Given the description of an element on the screen output the (x, y) to click on. 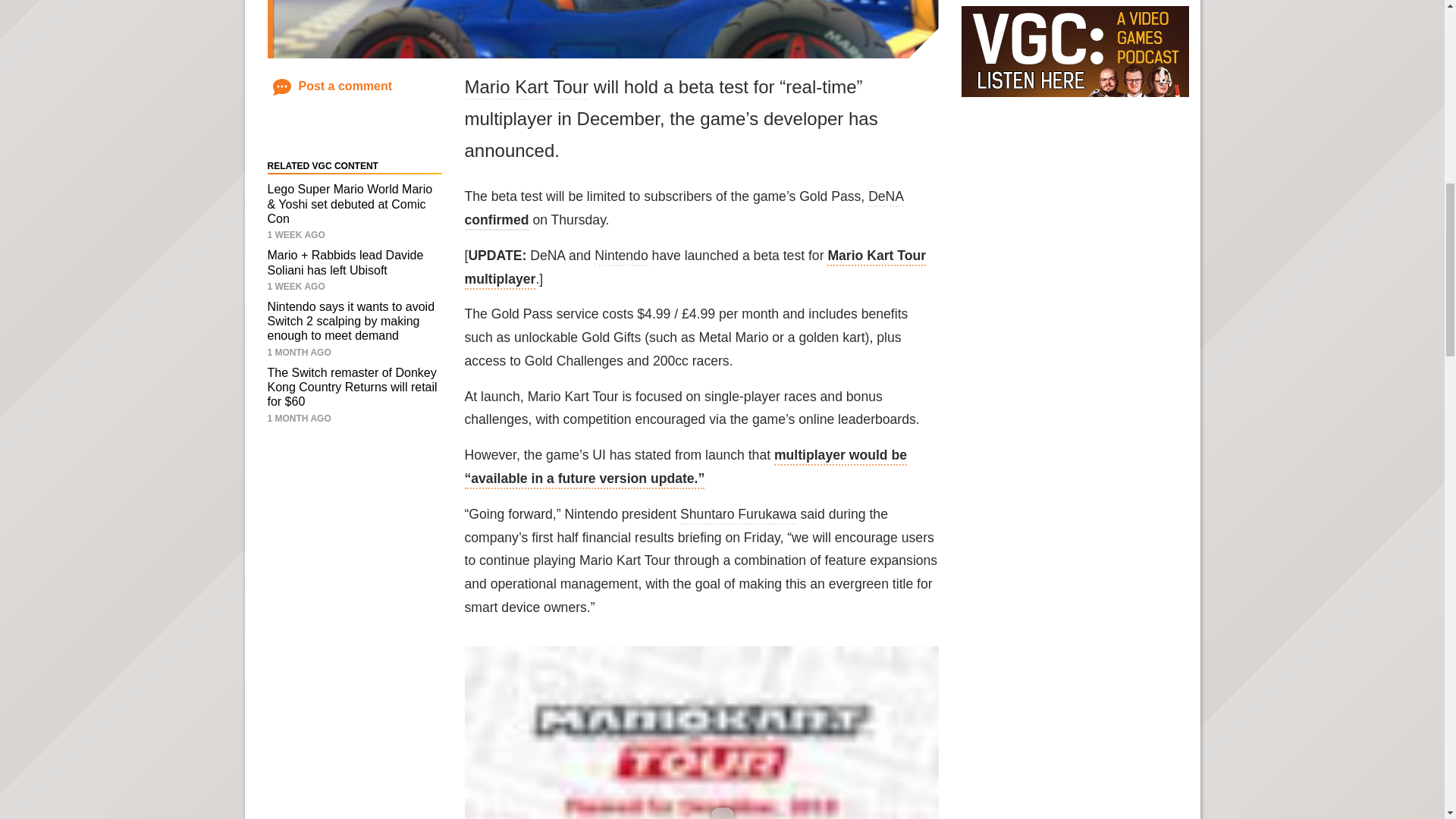
Mario Kart Tour multiplayer (695, 268)
confirmed (496, 221)
Mario Kart Tour (526, 87)
Nintendo (620, 257)
Shuntaro Furukawa (737, 515)
DeNA (884, 198)
